Given the description of an element on the screen output the (x, y) to click on. 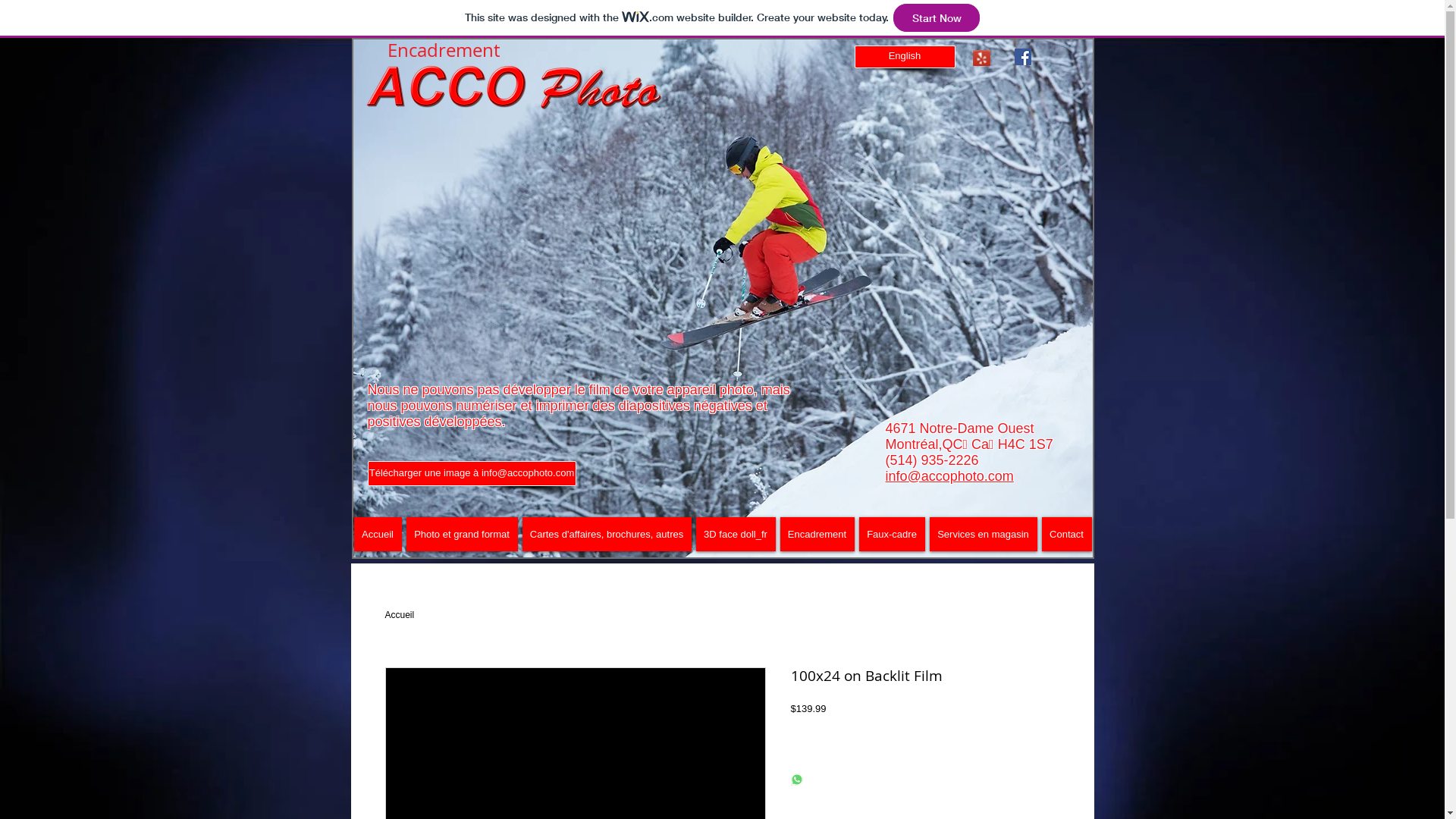
Photo et grand format Element type: text (461, 534)
logo.png Element type: hover (514, 90)
3D face doll_fr Element type: text (735, 534)
Accueil Element type: text (377, 534)
Faux-cadre Element type: text (891, 534)
Contact Element type: text (1066, 534)
English Element type: text (903, 56)
info@accophoto.com Element type: text (949, 475)
Encadrement Element type: text (816, 534)
Cartes d'affaires, brochures, autres Element type: text (605, 534)
Accueil Element type: text (399, 614)
Services en magasin Element type: text (983, 534)
